Given the description of an element on the screen output the (x, y) to click on. 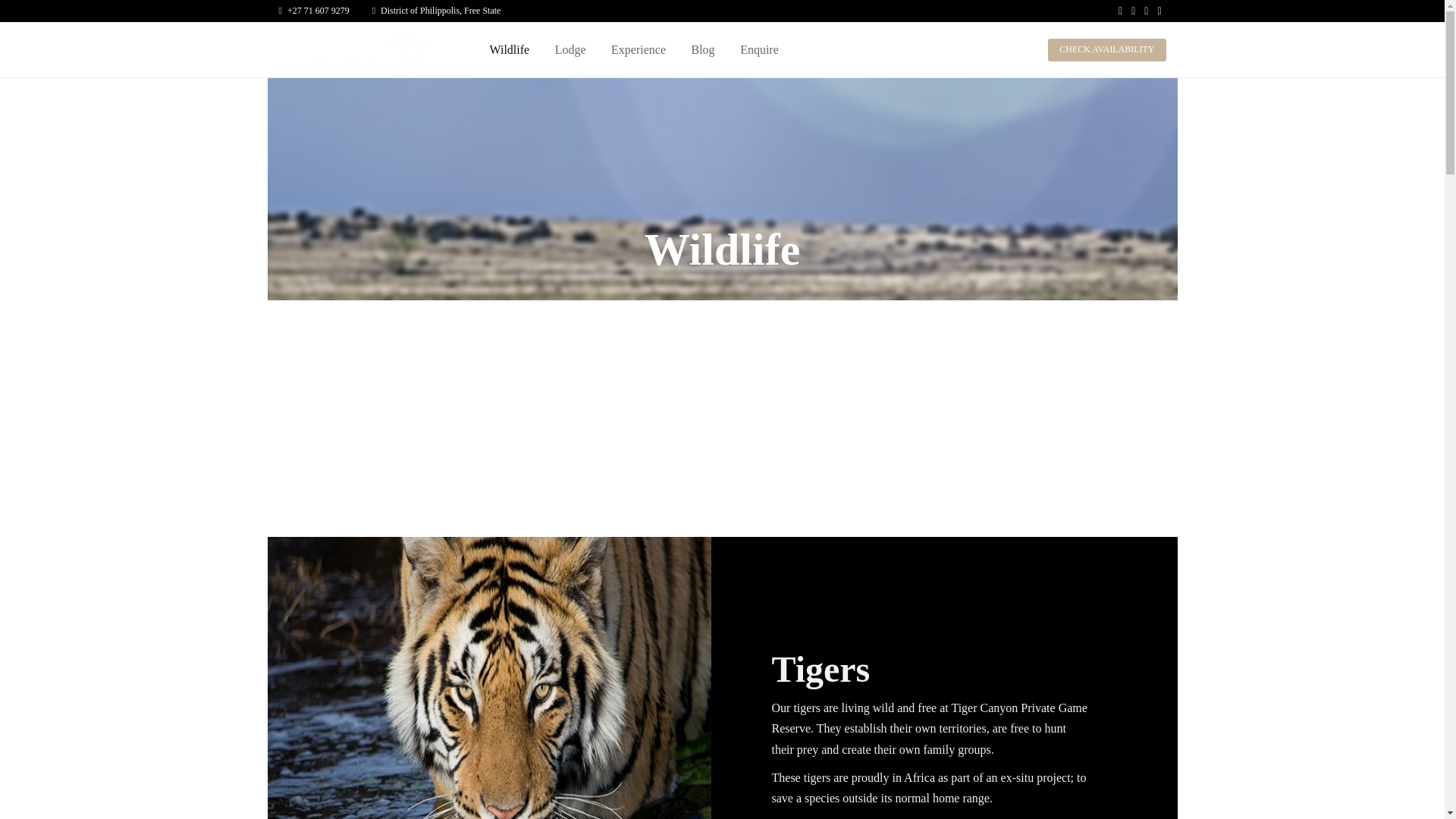
Experience (638, 49)
Wildlife (509, 49)
CHECK AVAILABILITY (1107, 49)
Enquire (758, 49)
Lodge (570, 49)
Blog (702, 49)
